Given the description of an element on the screen output the (x, y) to click on. 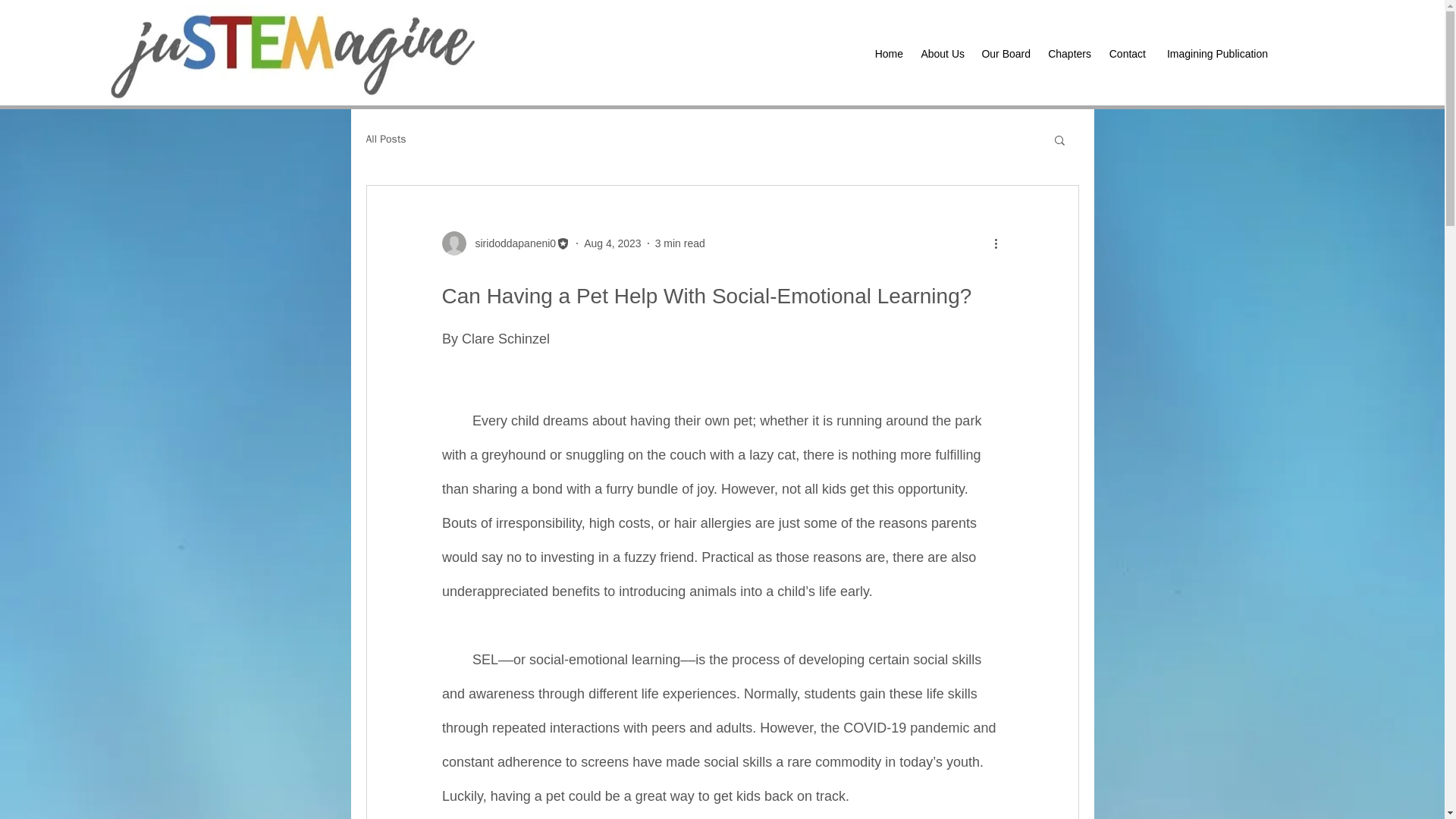
3 min read (679, 242)
Chapters (1068, 54)
siridoddapaneni0 (505, 242)
Our Board (1005, 54)
Aug 4, 2023 (612, 242)
About Us (941, 54)
Home (888, 54)
Imagining Publication (1214, 54)
All Posts (385, 139)
Contact (1126, 54)
siridoddapaneni0 (510, 242)
